Given the description of an element on the screen output the (x, y) to click on. 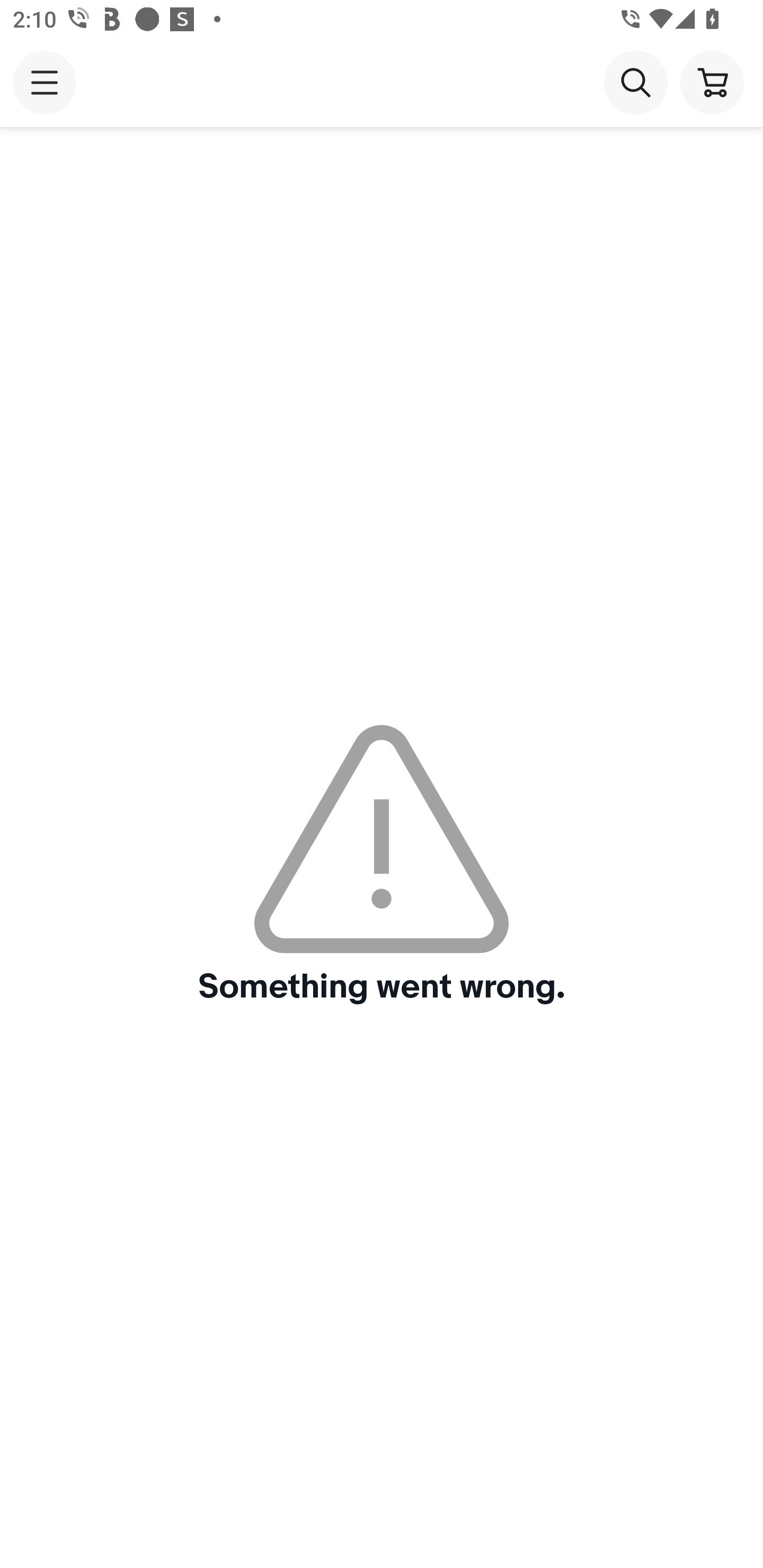
Main navigation, open (44, 82)
Search (635, 81)
Cart button shopping cart (711, 81)
